Given the description of an element on the screen output the (x, y) to click on. 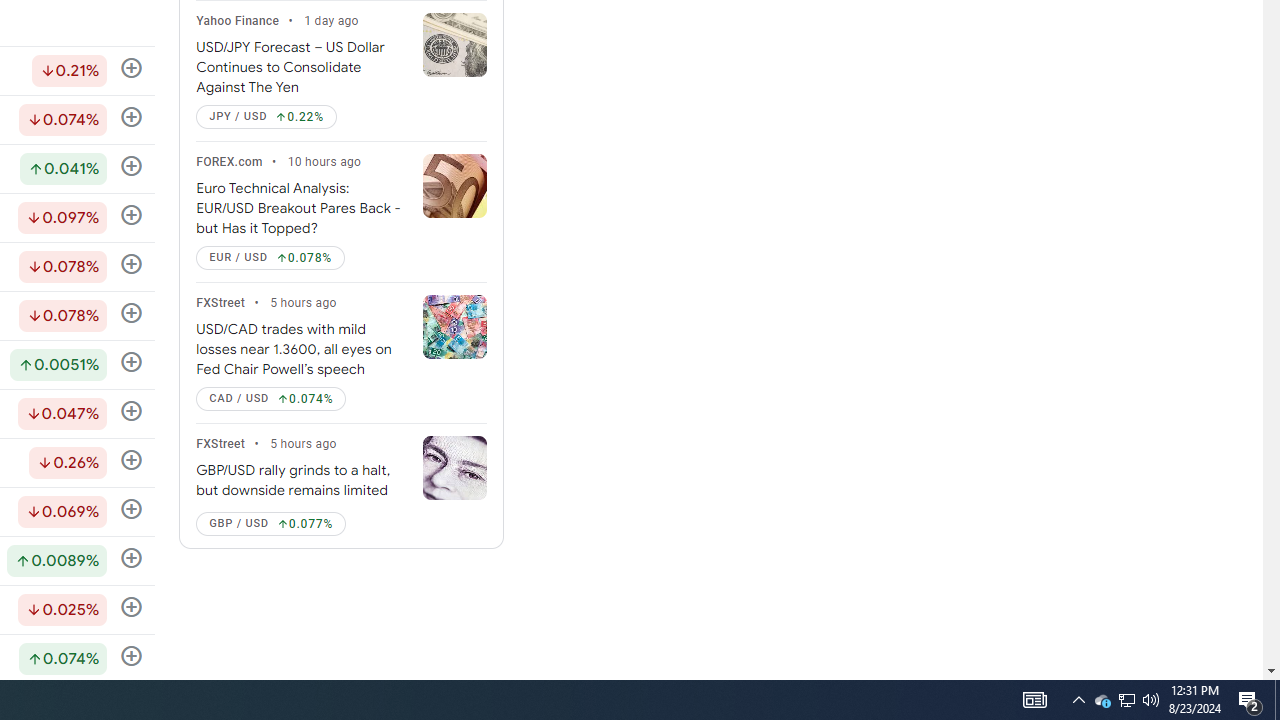
GBP / USD Up by 0.077% (270, 523)
EUR / USD Up by 0.078% (270, 258)
CAD / USD Up by 0.074% (270, 399)
Follow (131, 656)
JPY / USD Up by 0.22% (265, 116)
